Given the description of an element on the screen output the (x, y) to click on. 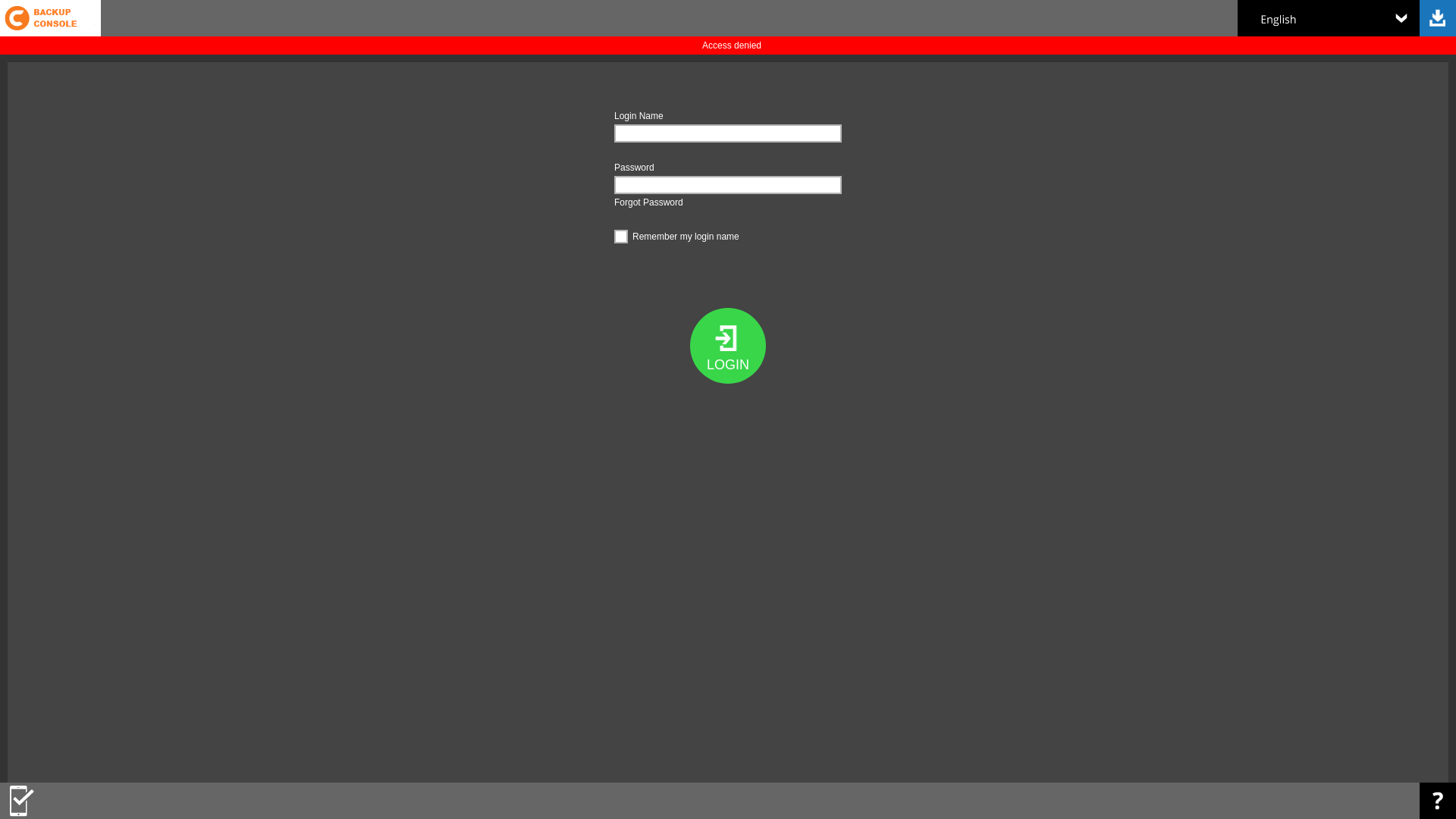
Forgot Password Element type: text (648, 202)
LOGIN Element type: text (727, 345)
